Given the description of an element on the screen output the (x, y) to click on. 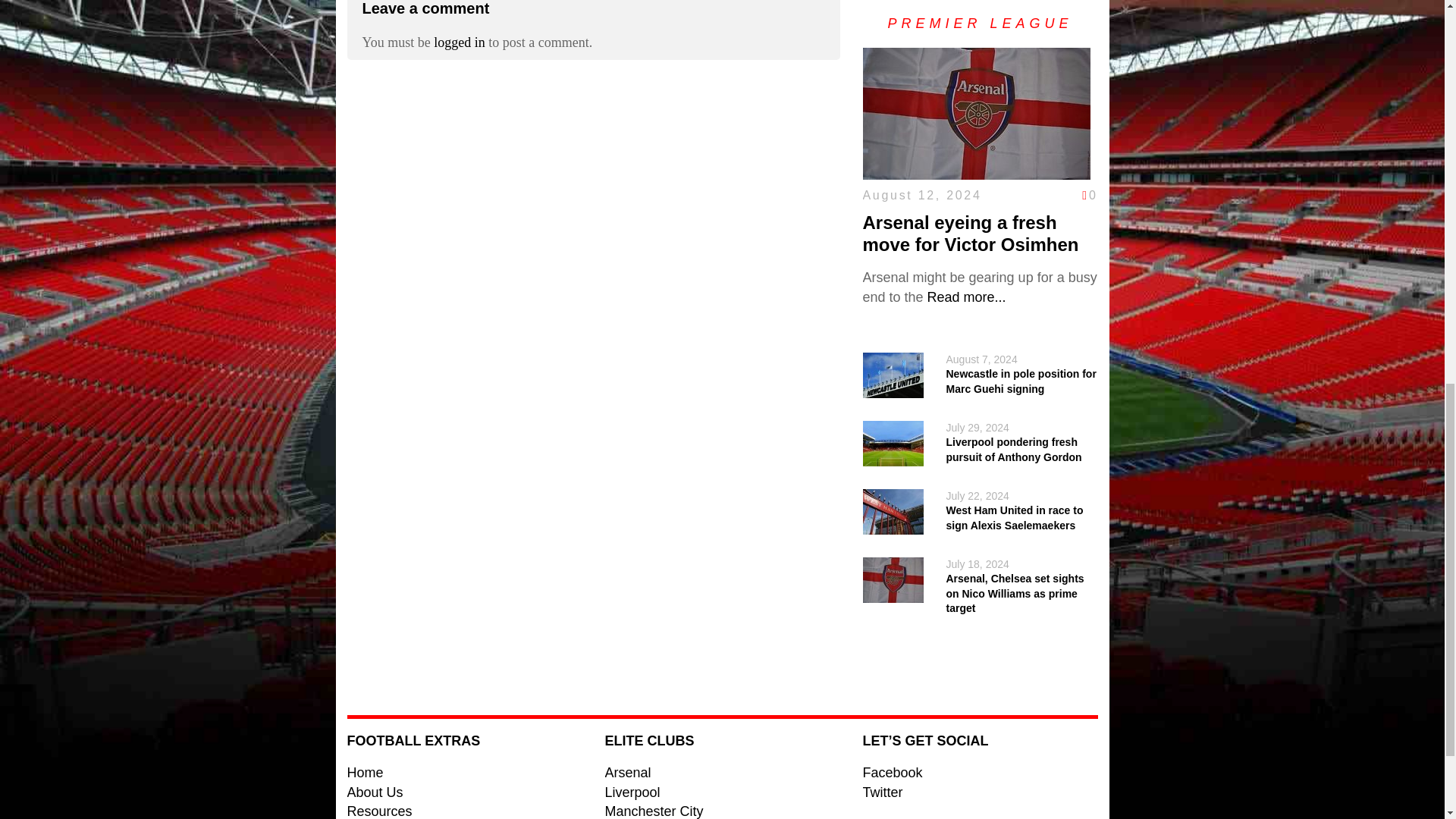
logged in (458, 42)
Arsenal eyeing a fresh move for Victor Osimhen (970, 233)
Liverpool pondering fresh pursuit of Anthony Gordon (1013, 449)
Arsenal eyeing a fresh move for Victor Osimhen (970, 233)
Arsenal eyeing a fresh move for Victor Osimhen (976, 169)
Arsenal, Chelsea set sights on Nico Williams as prime target (1015, 593)
West Ham United in race to sign Alexis Saelemaekers (1014, 517)
Newcastle in pole position for Marc Guehi signing (1021, 380)
Read more... (966, 296)
Arsenal eyeing a fresh move for Victor Osimhen (966, 296)
